Given the description of an element on the screen output the (x, y) to click on. 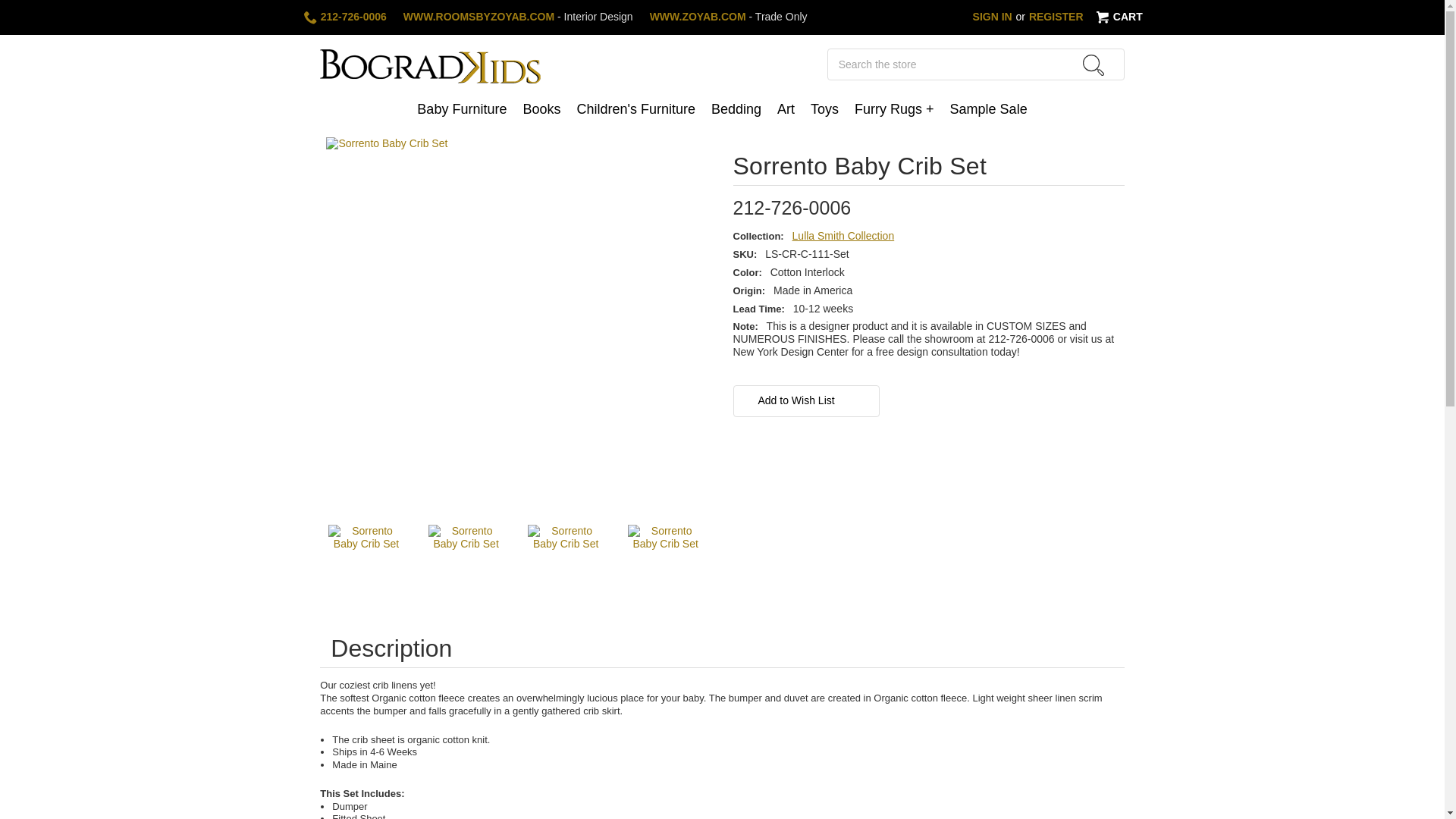
Sorrento Baby Crib Set (565, 562)
Sorrento Baby Crib Set (665, 562)
Baby Furniture (462, 110)
Sorrento Baby Crib Set (465, 562)
WWW.ZOYAB.COM - Trade Only (728, 17)
Sorrento Baby Crib Set (366, 562)
212-726-0006 (344, 17)
Bograd Kids (430, 64)
Books (542, 110)
CART (1118, 17)
SIGN IN (991, 17)
submit (1093, 65)
REGISTER (1056, 17)
Children'S Furniture (636, 110)
